Given the description of an element on the screen output the (x, y) to click on. 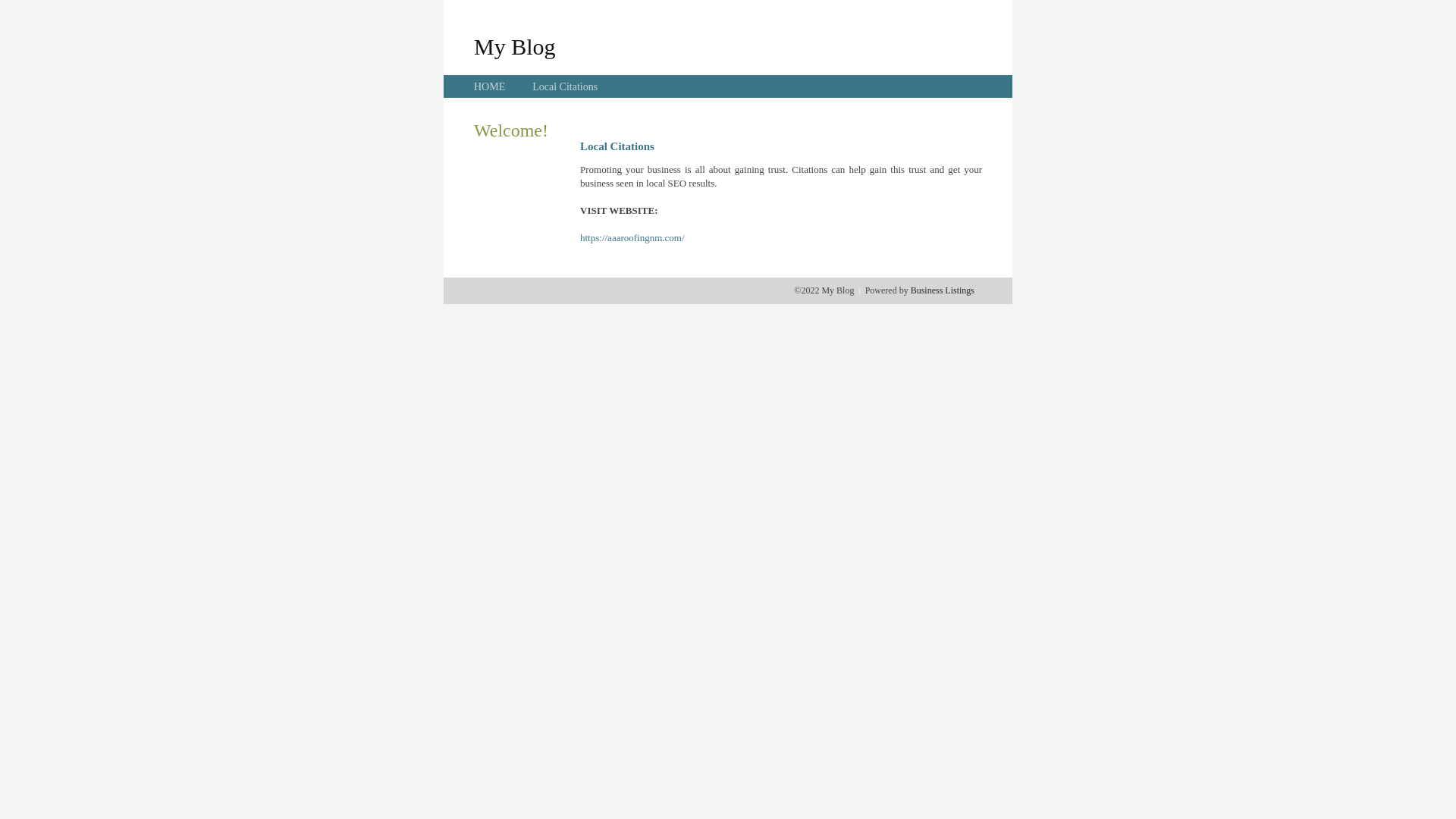
HOME Element type: text (489, 86)
Local Citations Element type: text (564, 86)
https://aaaroofingnm.com/ Element type: text (632, 237)
My Blog Element type: text (514, 46)
Business Listings Element type: text (942, 290)
